Given the description of an element on the screen output the (x, y) to click on. 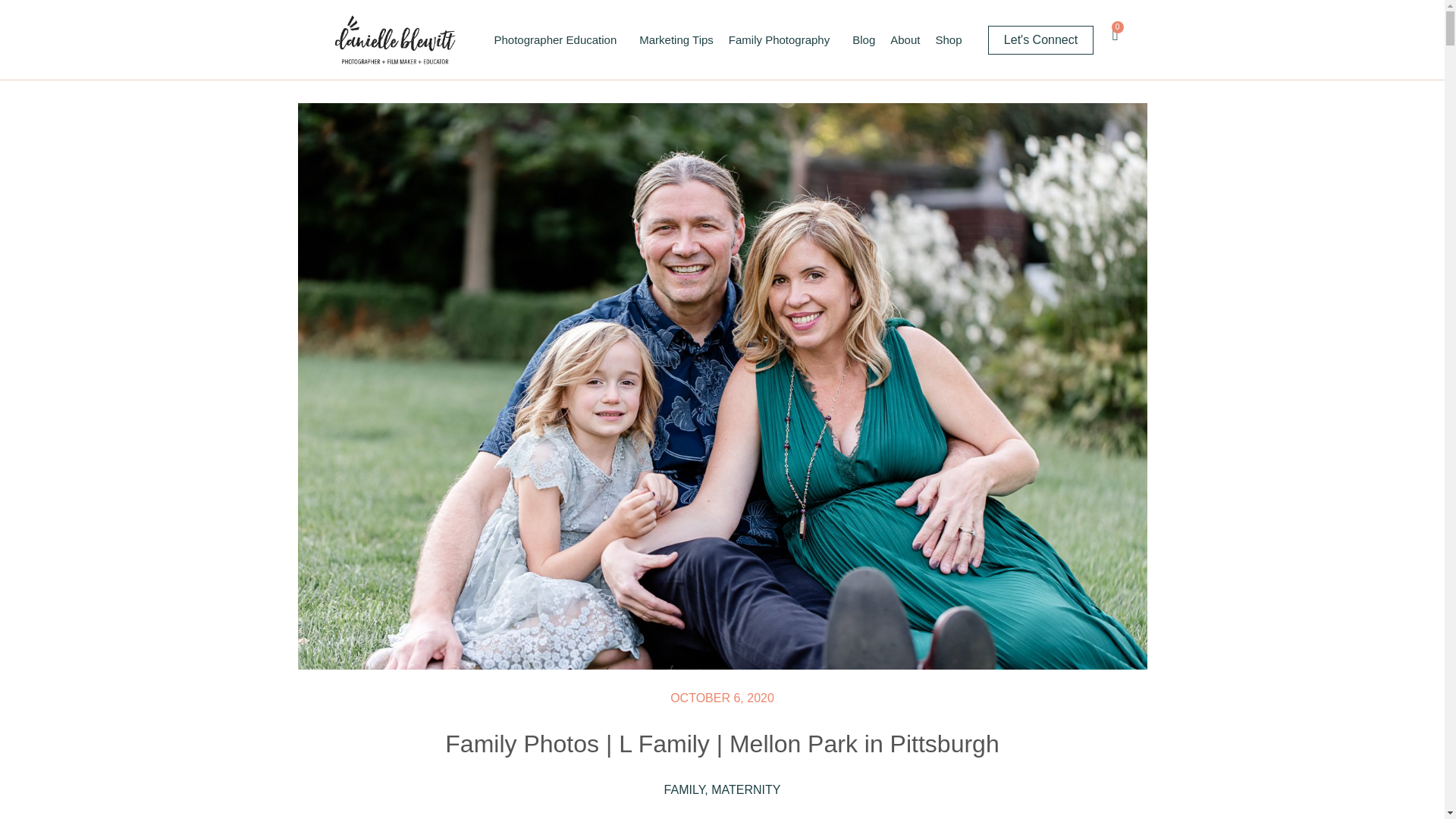
Photographer Education (558, 39)
Marketing Tips (675, 39)
Shop (948, 39)
Family Photography (782, 39)
About (904, 39)
Blog (863, 39)
